Given the description of an element on the screen output the (x, y) to click on. 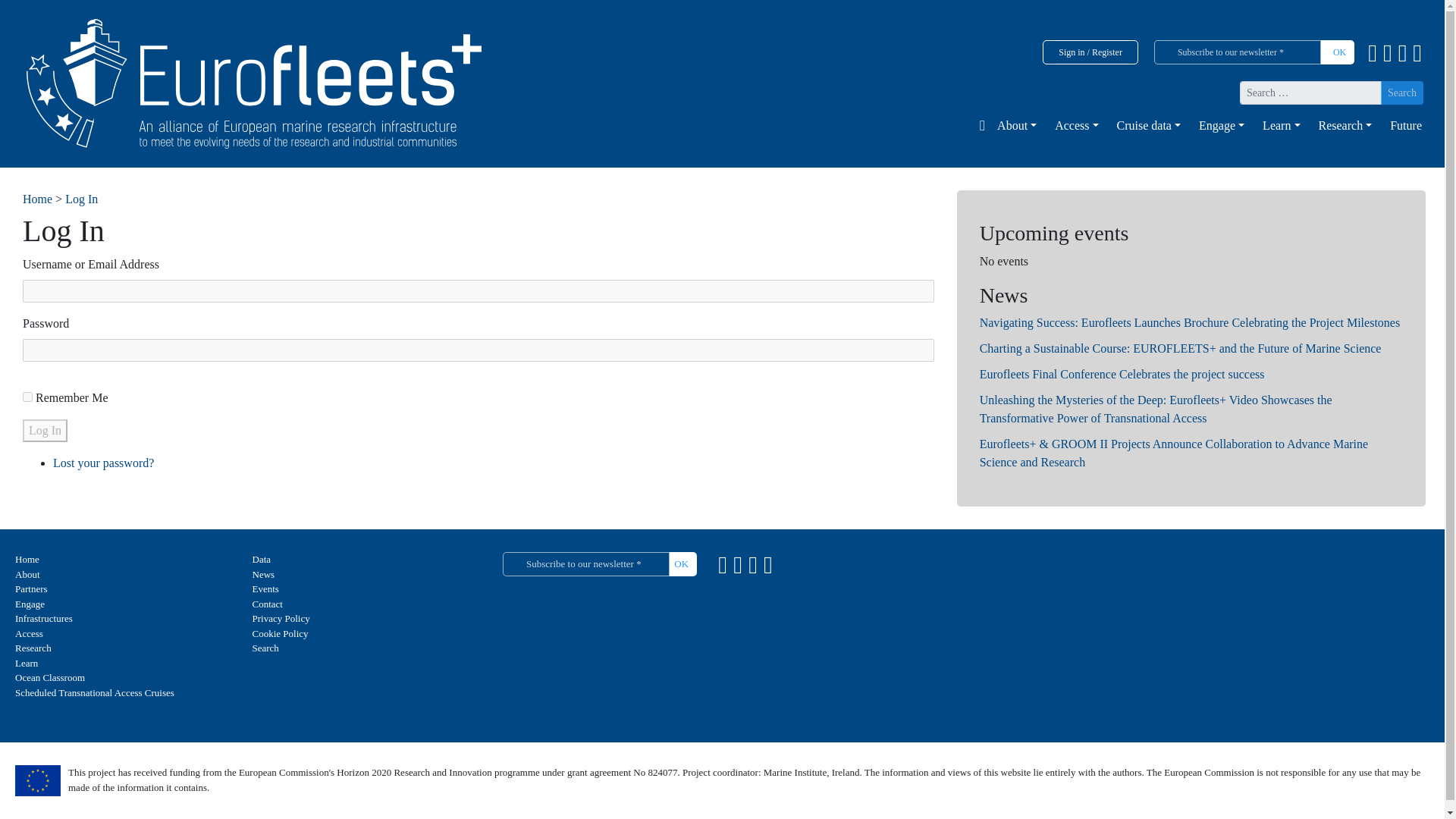
Sign in (1071, 51)
About (1013, 125)
Cruise data (1146, 125)
Cruise data (1146, 125)
Subscribe to our newsletter (1237, 52)
Access (1072, 125)
OK (1335, 52)
Engage (1218, 125)
Learn (1278, 125)
Search (1401, 92)
forever (27, 397)
Access (1072, 125)
Search (1401, 92)
Register (1107, 51)
About (1013, 125)
